Given the description of an element on the screen output the (x, y) to click on. 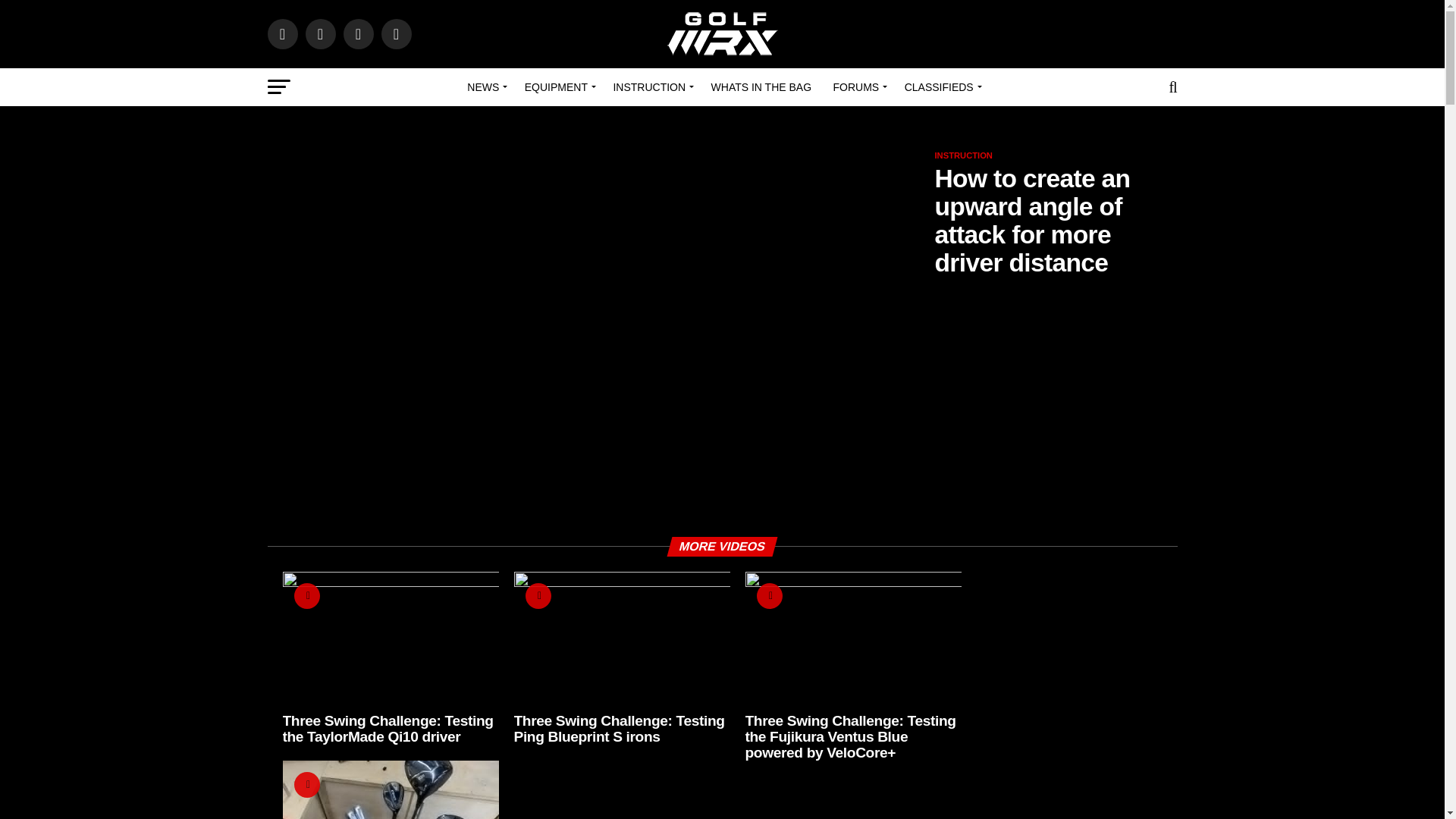
FORUMS (858, 86)
NEWS (485, 86)
EQUIPMENT (557, 86)
Classifieds (941, 86)
  Forums (858, 86)
Equipment News (557, 86)
INSTRUCTION (651, 86)
WHATS IN THE BAG (761, 86)
